Given the description of an element on the screen output the (x, y) to click on. 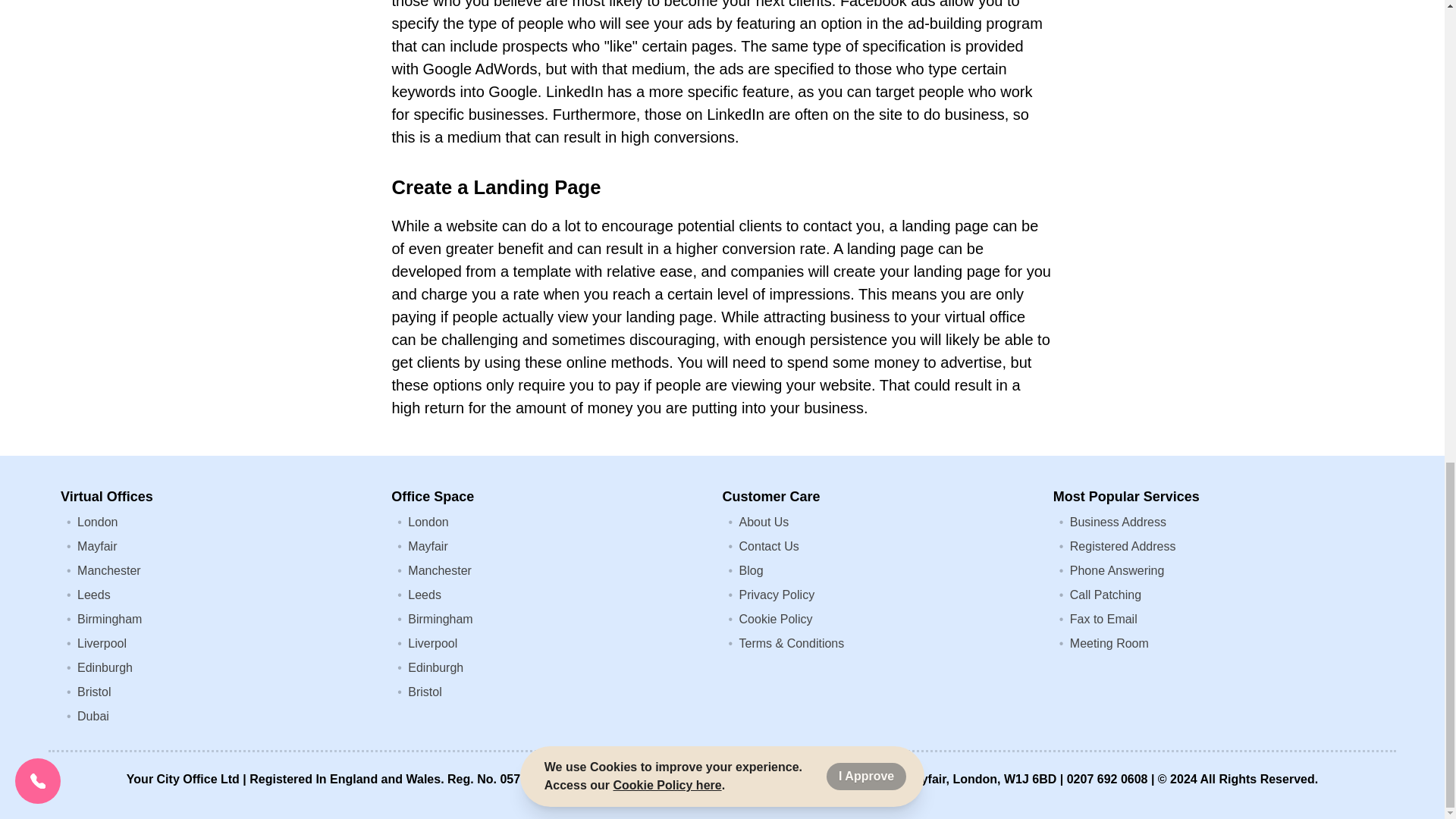
Dubai (93, 716)
Edinburgh (104, 667)
Liverpool (432, 643)
Leeds (93, 594)
Leeds (424, 594)
Birmingham (439, 618)
Mayfair (426, 545)
About Us (764, 521)
Liverpool (101, 643)
London (427, 521)
